Given the description of an element on the screen output the (x, y) to click on. 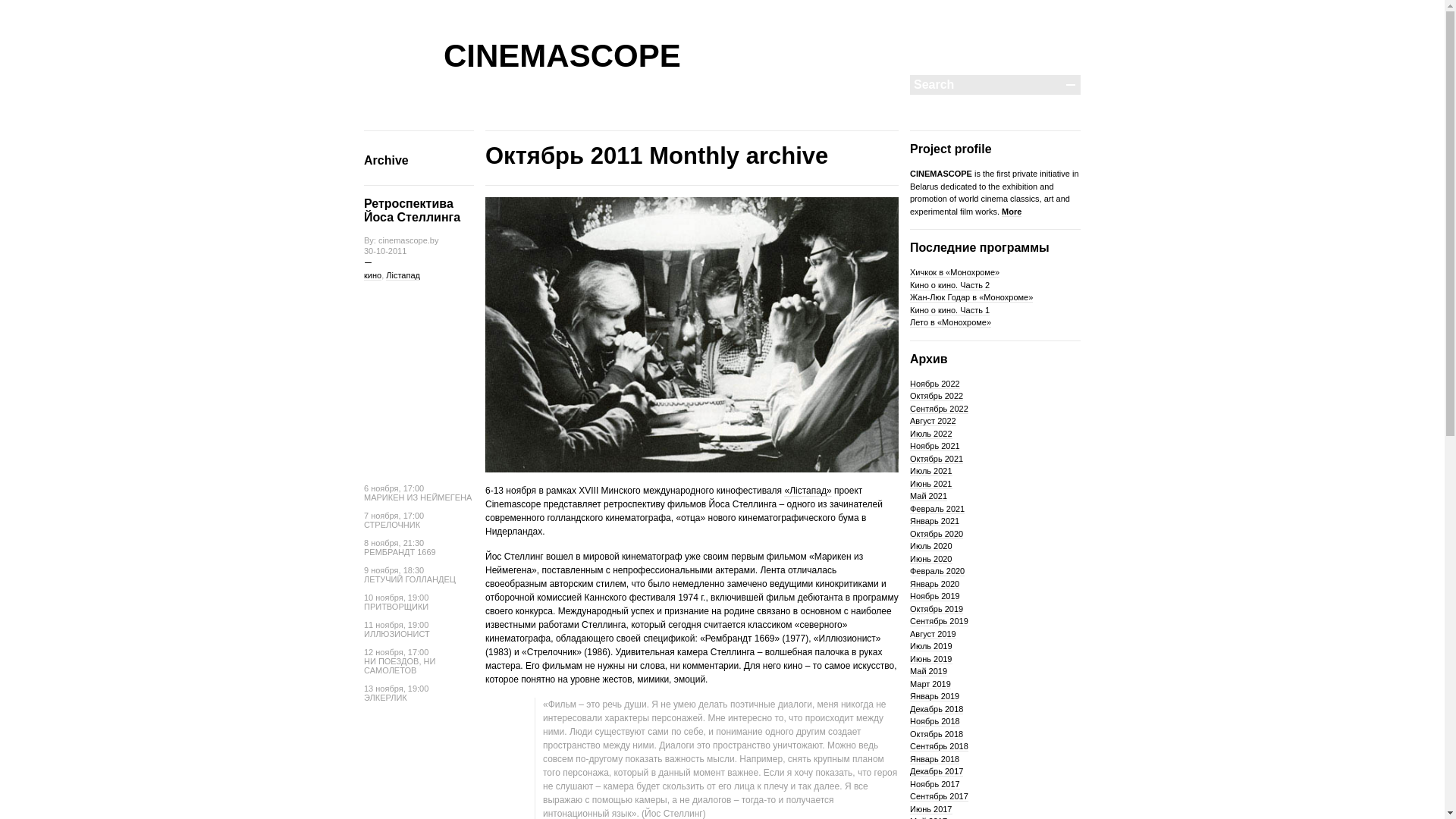
More Element type: text (1011, 211)
CINEMASCOPE Element type: text (561, 55)
